Given the description of an element on the screen output the (x, y) to click on. 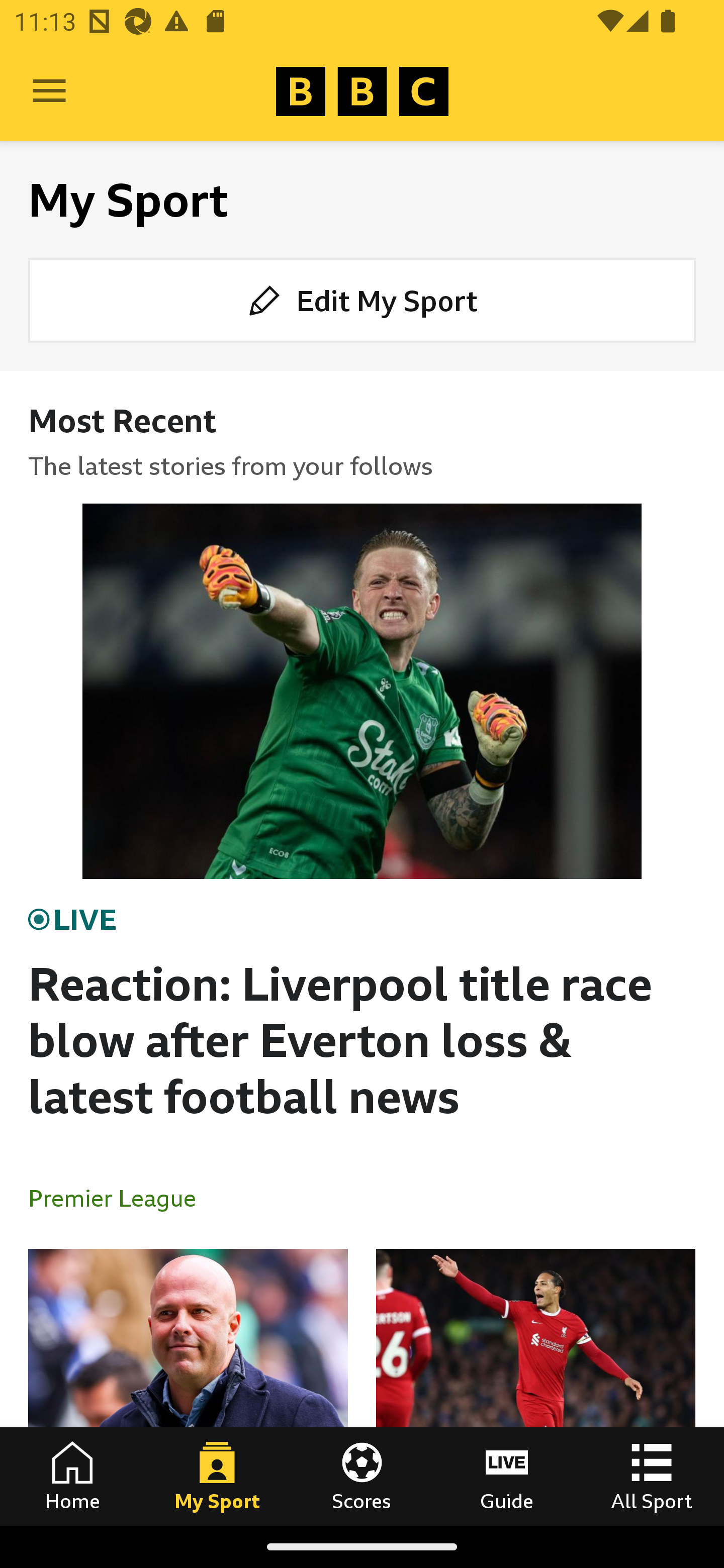
Open Menu (49, 91)
Edit My Sport (361, 300)
Premier League In the section Premier League (119, 1197)
Slot philosophy could suit Liverpool - Van Dijk (188, 1386)
Van Dijk questions desire of team-mates after loss (535, 1386)
Home (72, 1475)
Scores (361, 1475)
Guide (506, 1475)
All Sport (651, 1475)
